Given the description of an element on the screen output the (x, y) to click on. 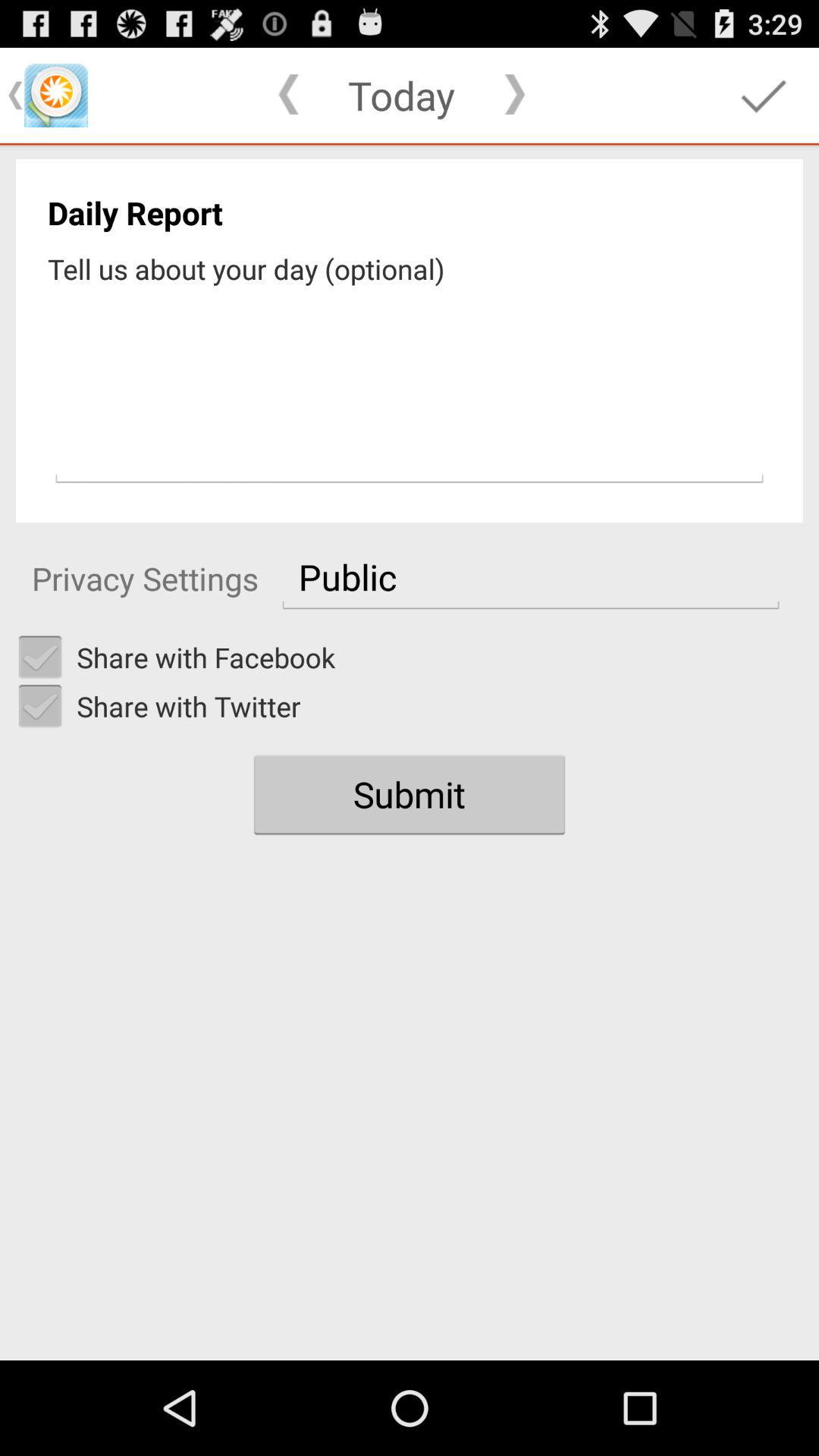
check box to share writing with twitter (39, 705)
